Given the description of an element on the screen output the (x, y) to click on. 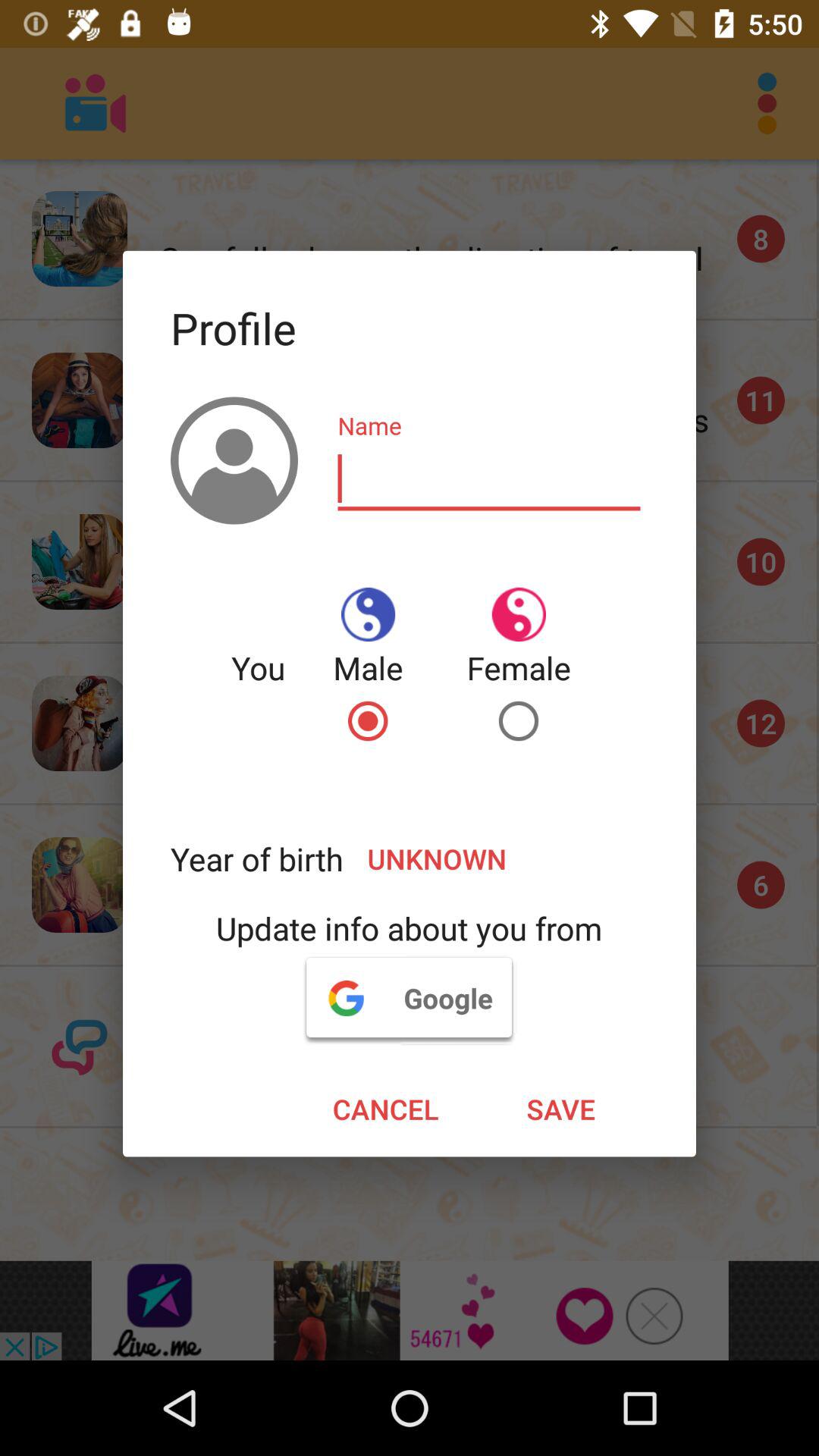
click unknown item (495, 858)
